Given the description of an element on the screen output the (x, y) to click on. 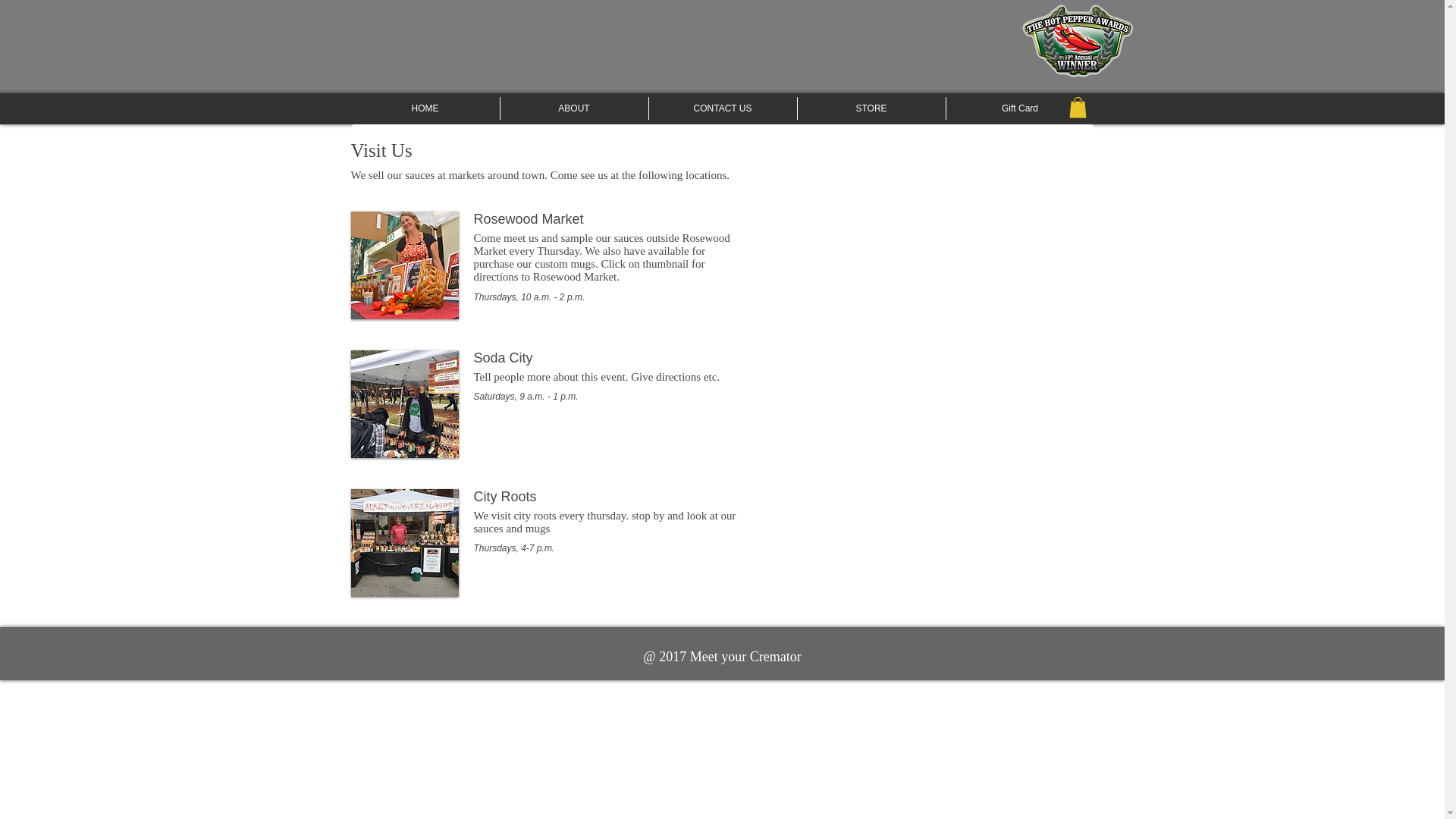
Diane at Rosewood Market (404, 265)
STORE (870, 108)
HOME (424, 108)
ABOUT (573, 108)
image (404, 542)
Benoit at Soda City (404, 403)
CONTACT US (722, 108)
Gift Card (1020, 108)
